Given the description of an element on the screen output the (x, y) to click on. 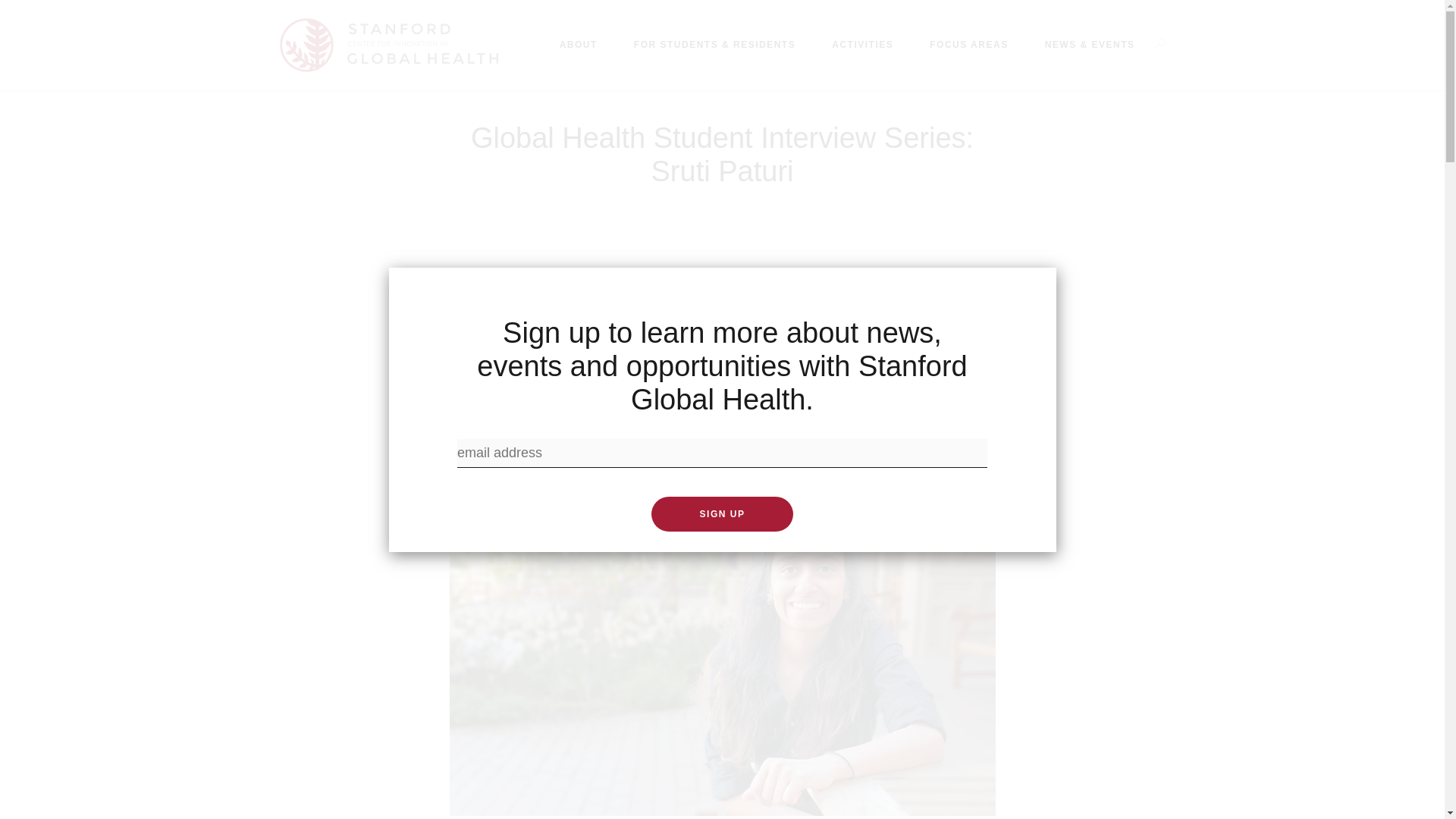
Sign Up (721, 513)
ACTIVITIES (862, 44)
Sign Up (721, 513)
FOCUS AREAS (968, 44)
